Given the description of an element on the screen output the (x, y) to click on. 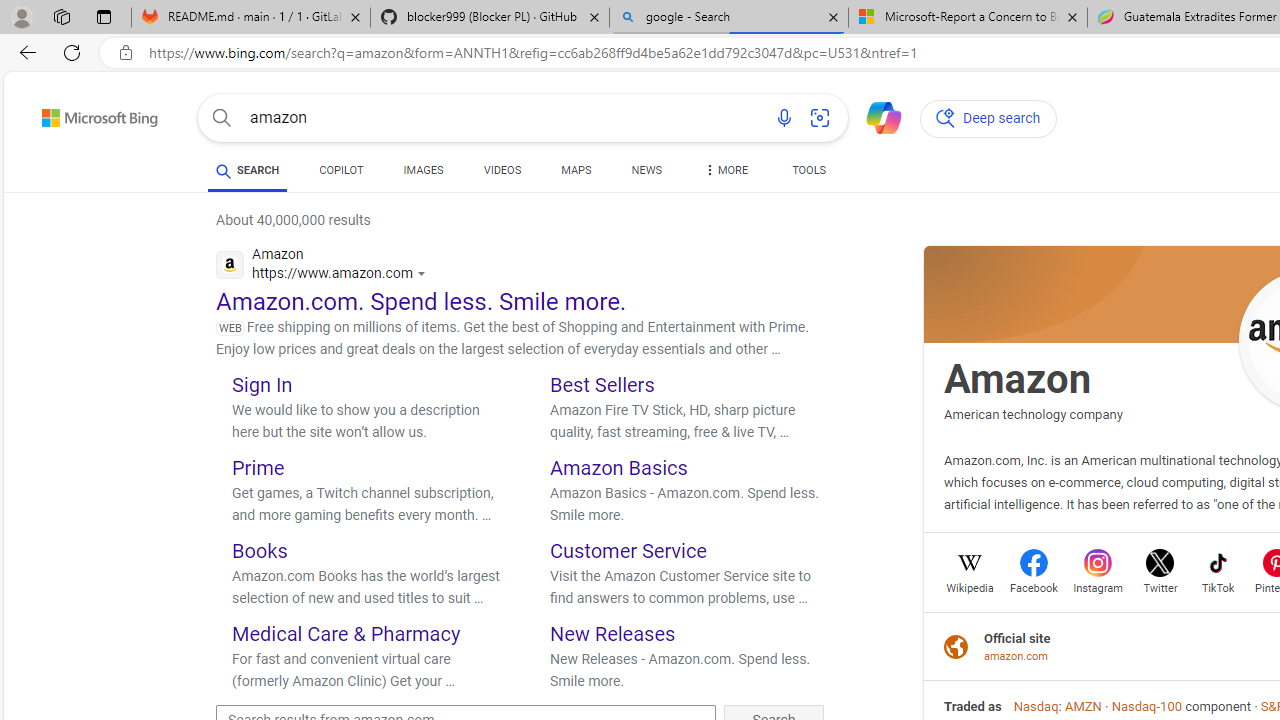
SEARCH (247, 170)
Instagram (1097, 586)
MAPS (576, 170)
Twitter (1160, 586)
Amazon Basics (619, 467)
Prime (258, 467)
